Given the description of an element on the screen output the (x, y) to click on. 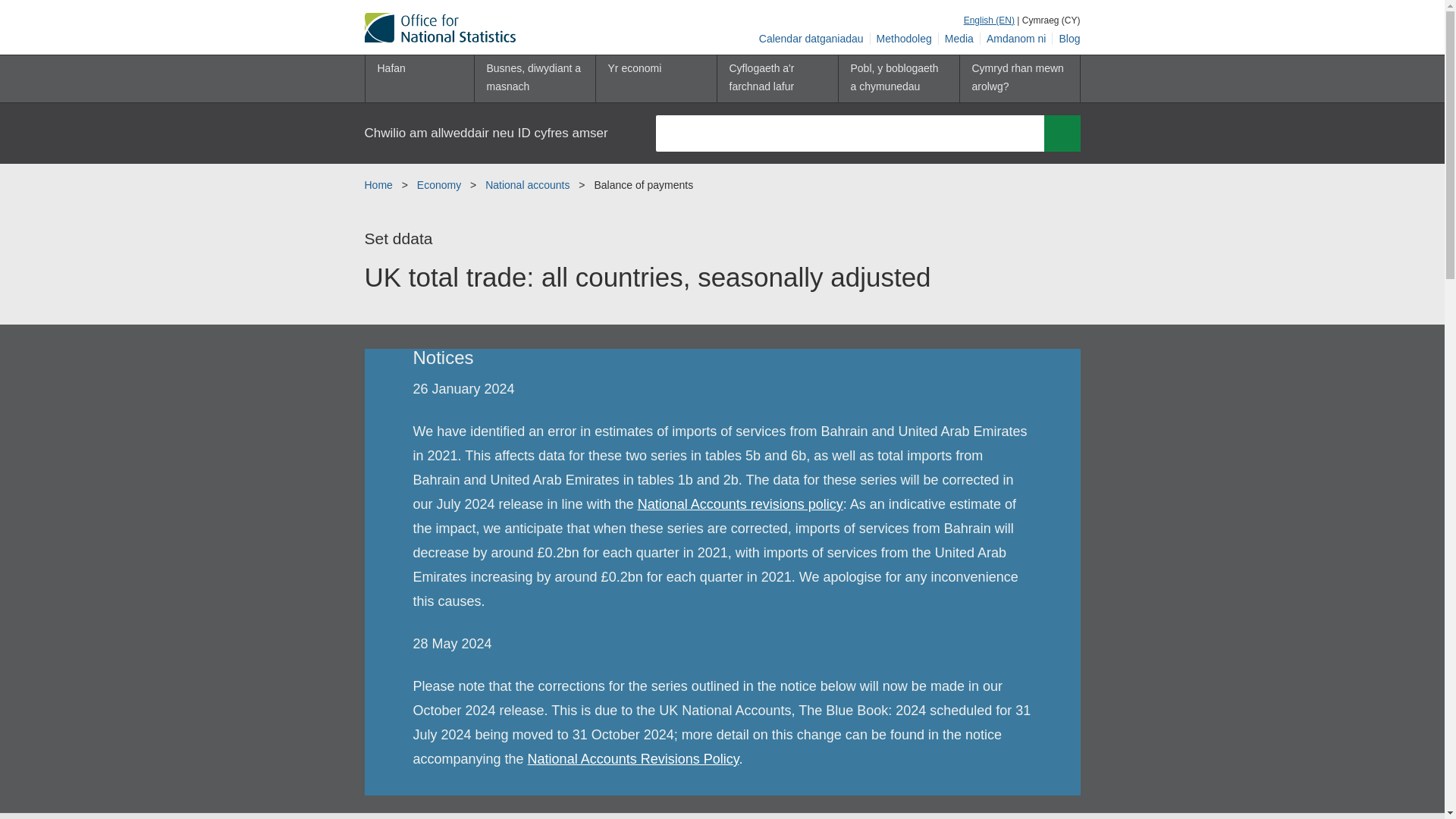
Media (959, 38)
Yr economi (655, 78)
Busnes, diwydiant a masnach (533, 78)
Methodoleg (904, 38)
Calendar datganiadau (811, 38)
Pobl, y boblogaeth a chymunedau (897, 78)
Amdanom ni (1015, 38)
Cyflogaeth a'r farchnad lafur (776, 78)
Hafan (418, 78)
Blog (1066, 38)
